Given the description of an element on the screen output the (x, y) to click on. 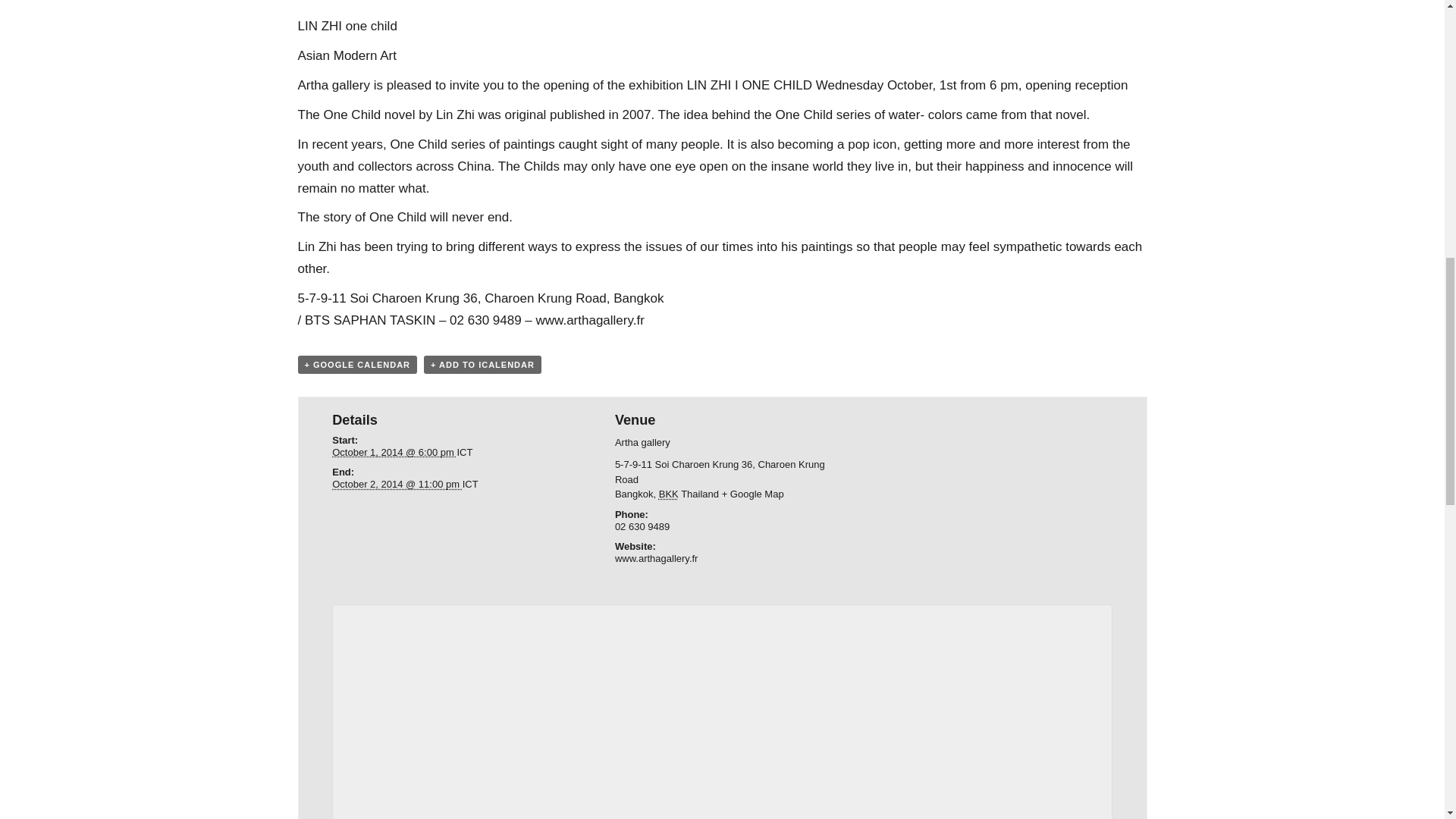
2014-10-01 (394, 451)
BKK (668, 493)
2014-10-02 (396, 483)
www.arthagallery.fr (656, 558)
Click to view a Google Map (753, 493)
Download .ics file (482, 364)
Add to Google Calendar (356, 364)
